Given the description of an element on the screen output the (x, y) to click on. 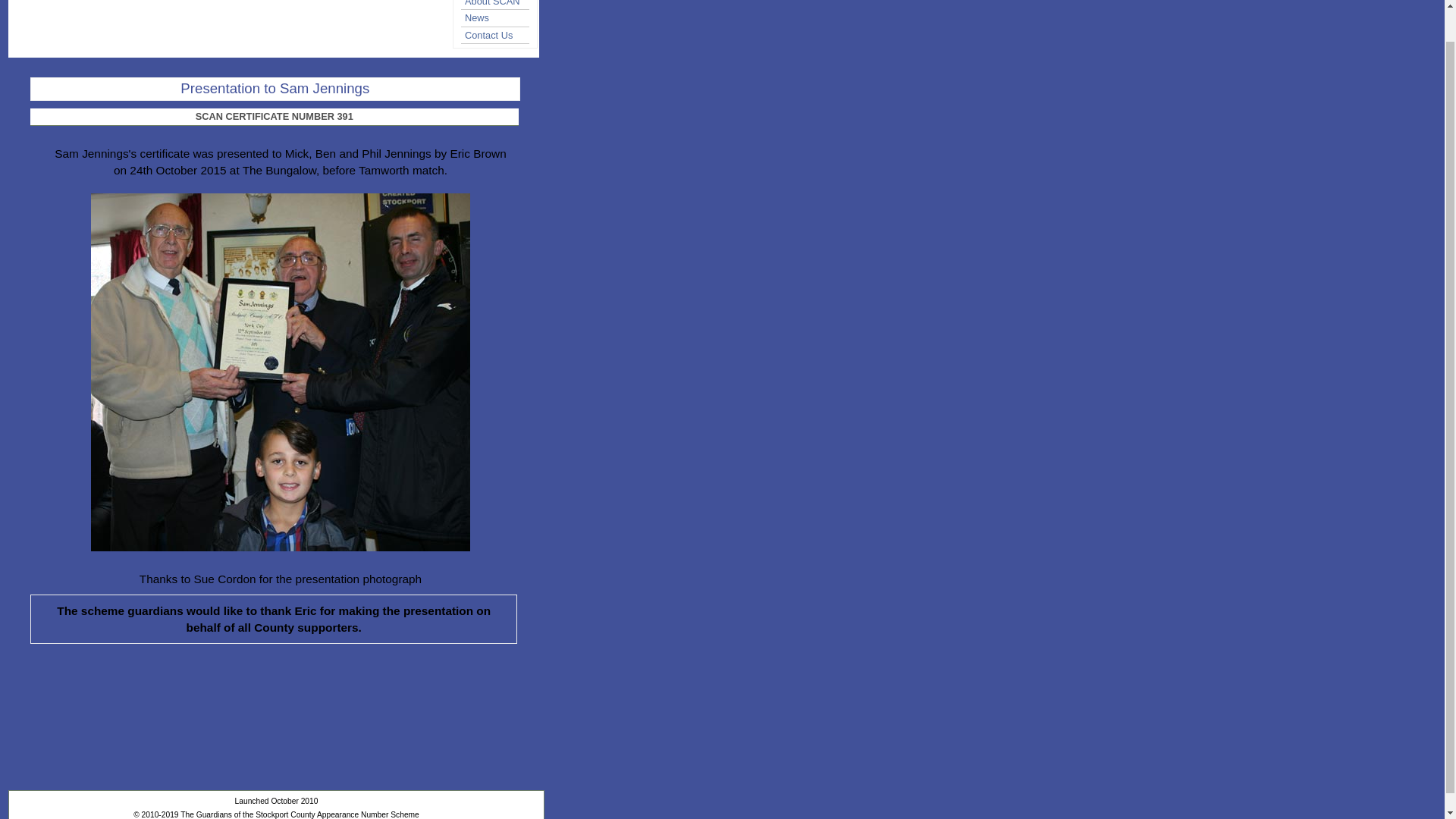
About SCAN (500, 4)
Contact Us (500, 35)
News (500, 17)
